Given the description of an element on the screen output the (x, y) to click on. 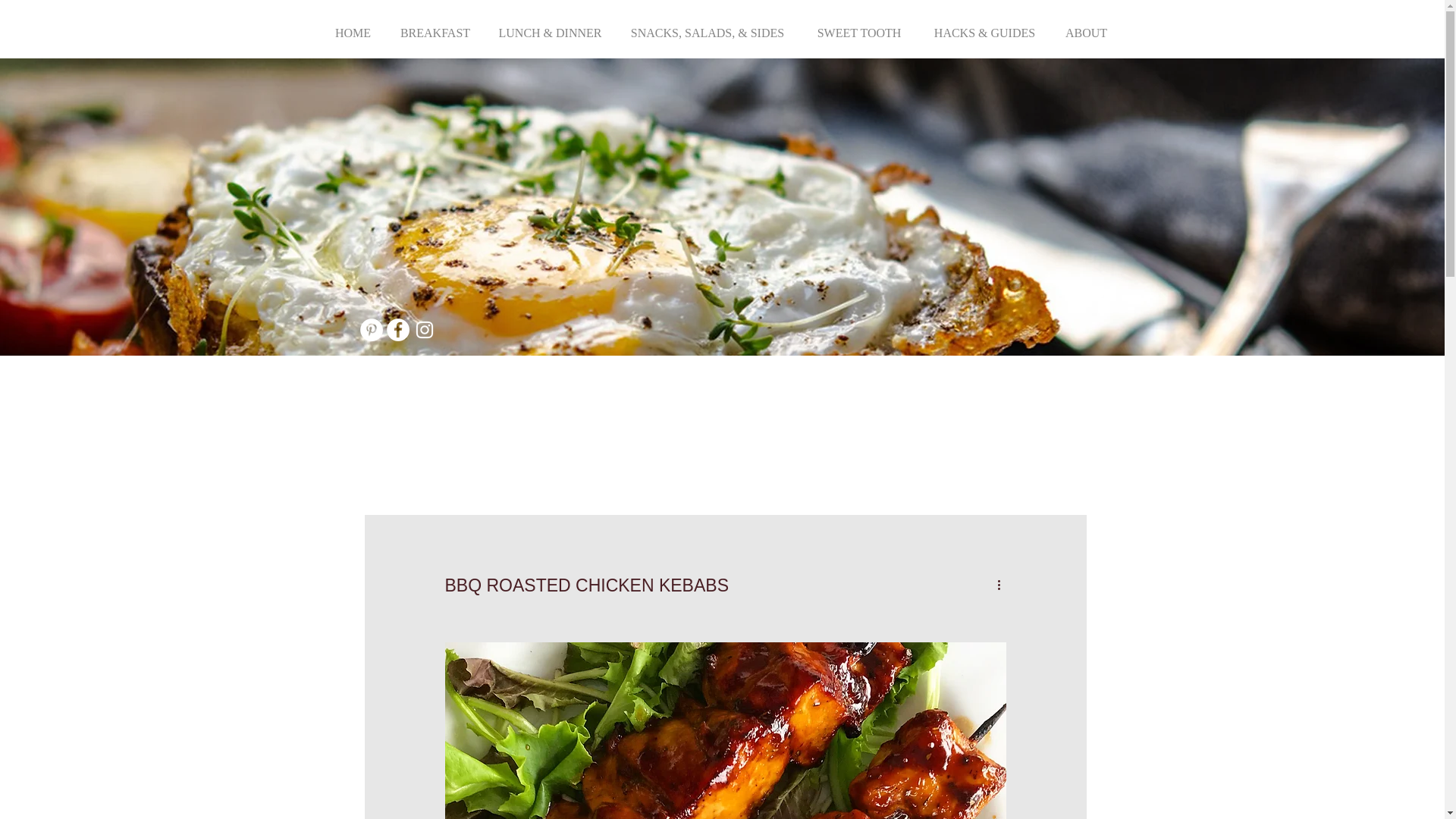
HOME (352, 26)
SWEET TOOTH (858, 26)
ABOUT (1085, 26)
BREAKFAST (434, 26)
